Given the description of an element on the screen output the (x, y) to click on. 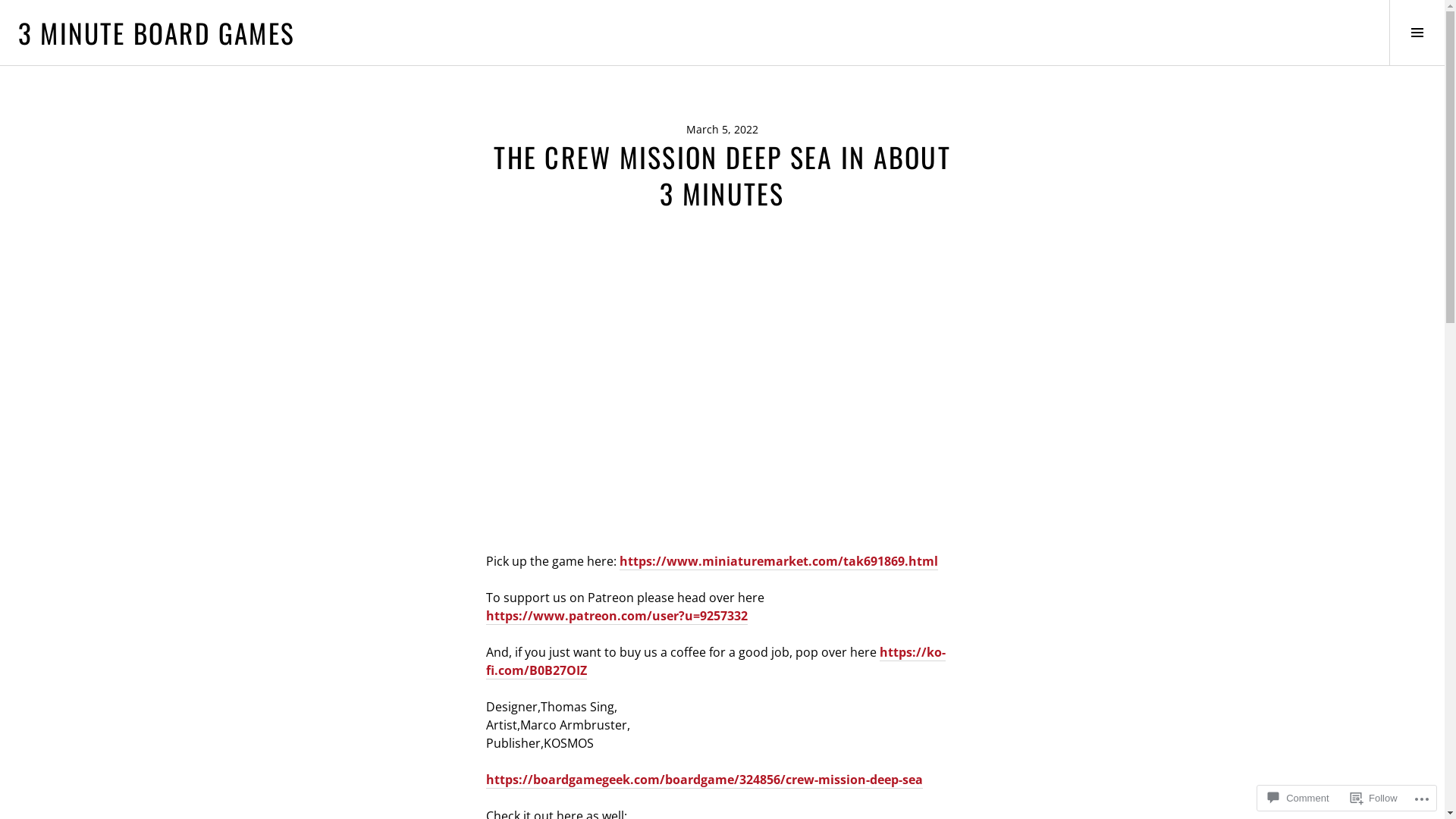
Follow Element type: text (1373, 797)
https://www.miniaturemarket.com/tak691869.html Element type: text (777, 561)
Comment Element type: text (1297, 797)
https://ko-fi.com/B0B27OIZ Element type: text (714, 661)
https://www.patreon.com/user?u=9257332 Element type: text (615, 615)
3 MINUTE BOARD GAMES Element type: text (156, 32)
